Given the description of an element on the screen output the (x, y) to click on. 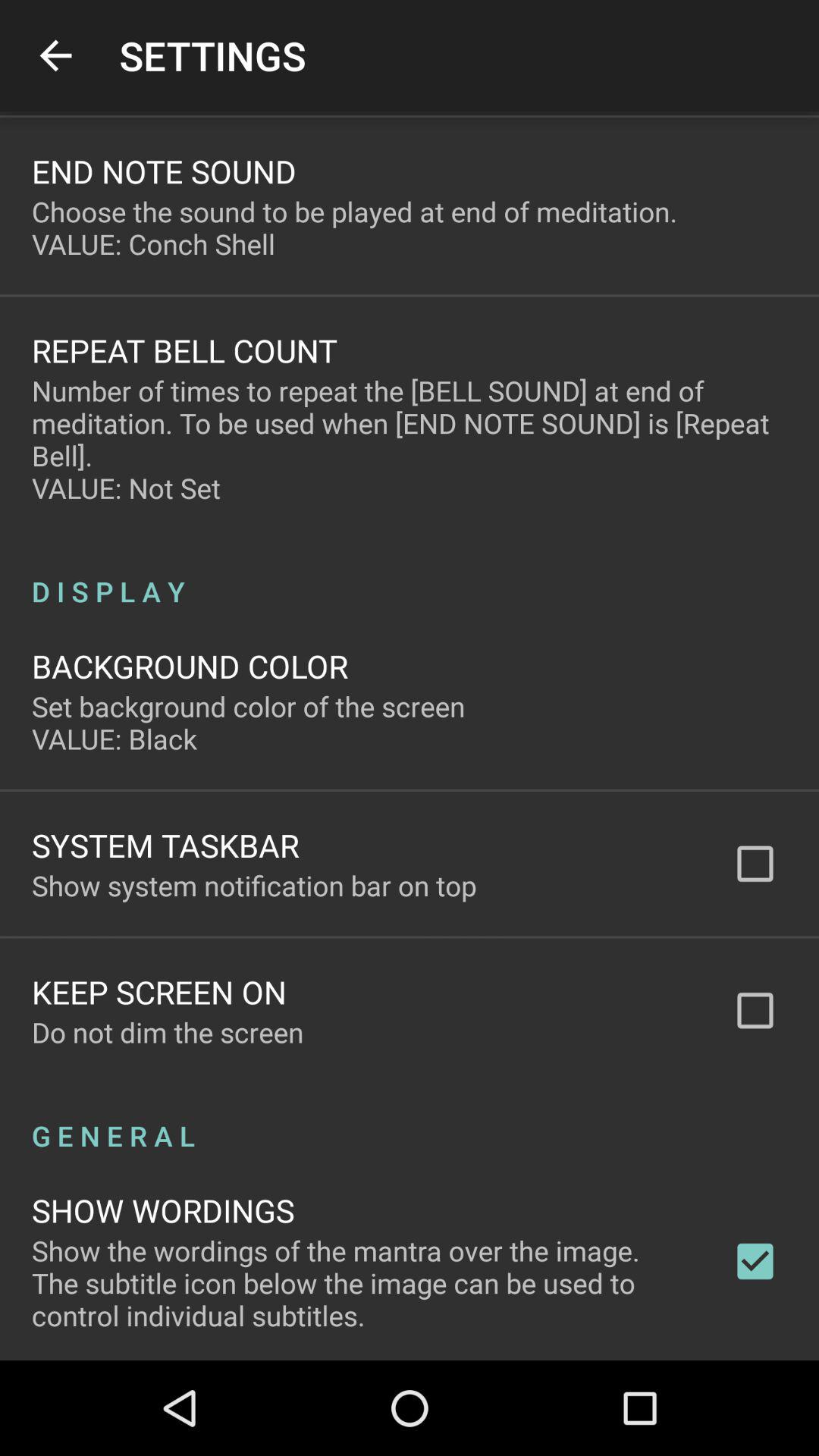
choose item above the keep screen on icon (253, 885)
